Given the description of an element on the screen output the (x, y) to click on. 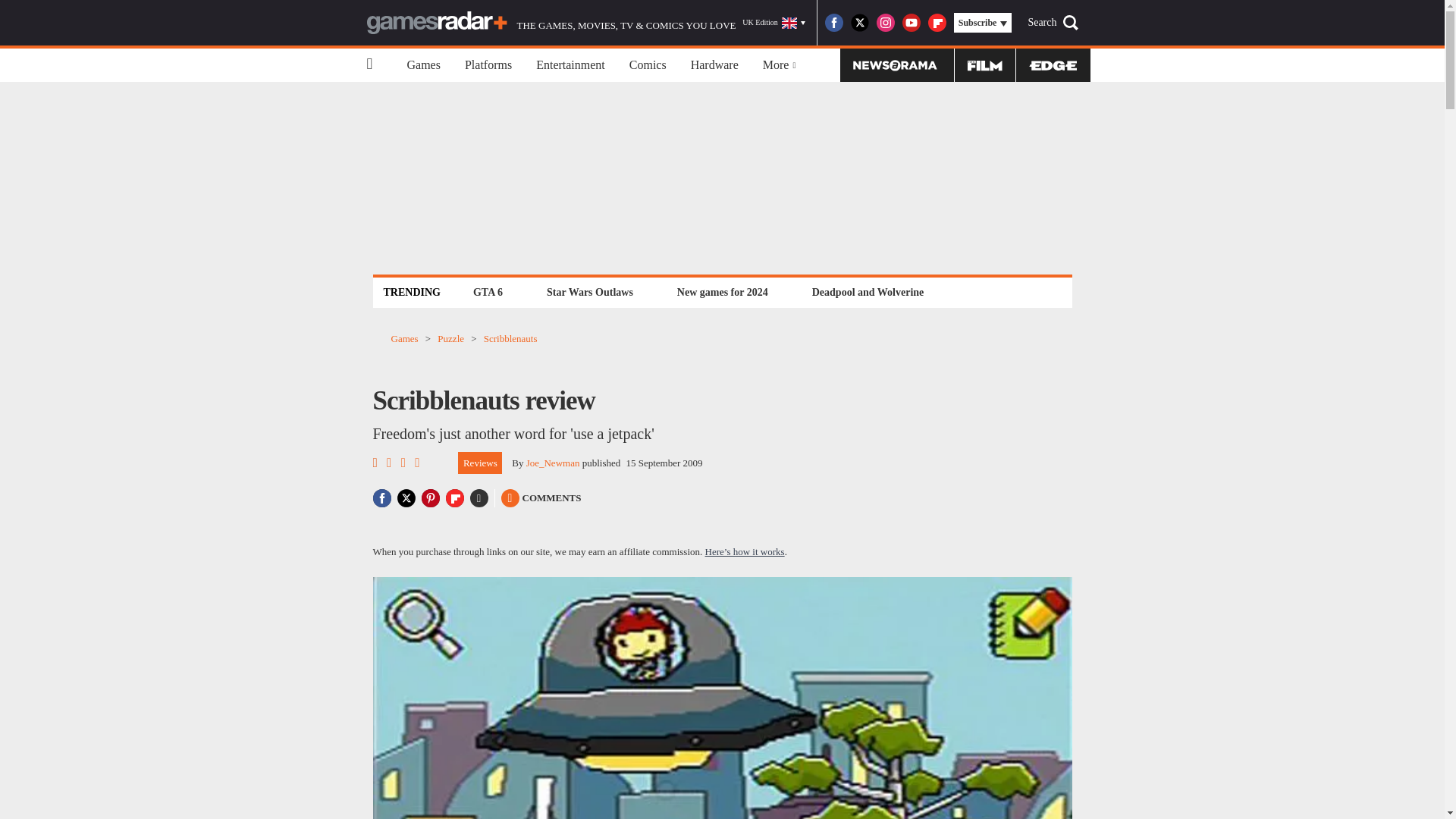
UK Edition (773, 22)
Star Wars Outlaws (590, 292)
Hardware (714, 64)
New games for 2024 (722, 292)
Entertainment (570, 64)
Deadpool and Wolverine (868, 292)
Platforms (488, 64)
Games (422, 64)
Comics (647, 64)
GTA 6 (487, 292)
